Given the description of an element on the screen output the (x, y) to click on. 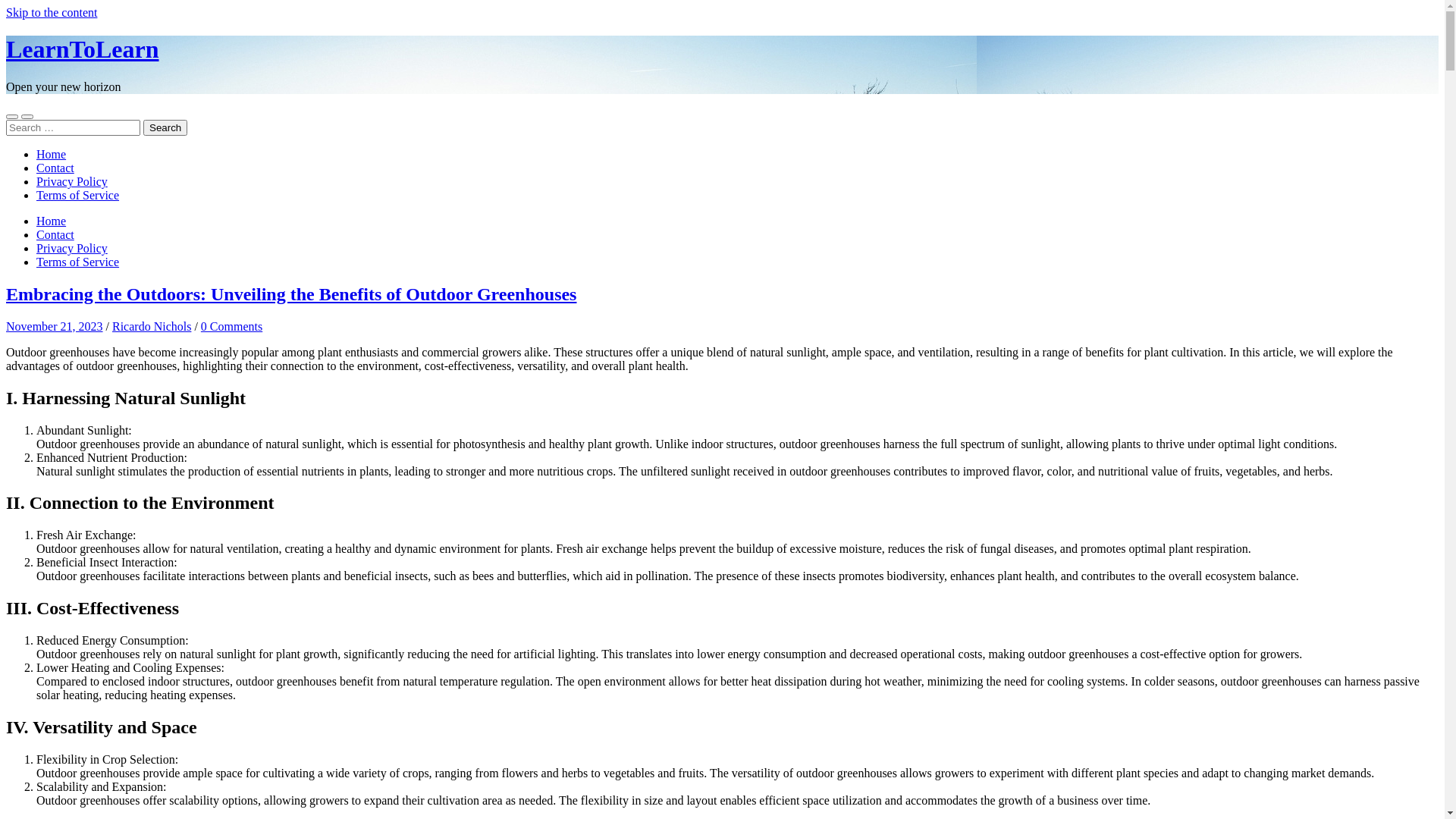
Home Element type: text (50, 220)
Ricardo Nichols Element type: text (151, 326)
Terms of Service Element type: text (77, 261)
Toggle mobile menu Element type: text (12, 116)
Toggle search field Element type: text (27, 116)
Home Element type: text (50, 153)
Contact Element type: text (55, 167)
Skip to the content Element type: text (51, 12)
LearnToLearn Element type: text (82, 48)
Contact Element type: text (55, 234)
Terms of Service Element type: text (77, 194)
Privacy Policy Element type: text (71, 247)
0 Comments Element type: text (231, 326)
Privacy Policy Element type: text (71, 181)
November 21, 2023 Element type: text (54, 326)
Search Element type: text (165, 127)
